Given the description of an element on the screen output the (x, y) to click on. 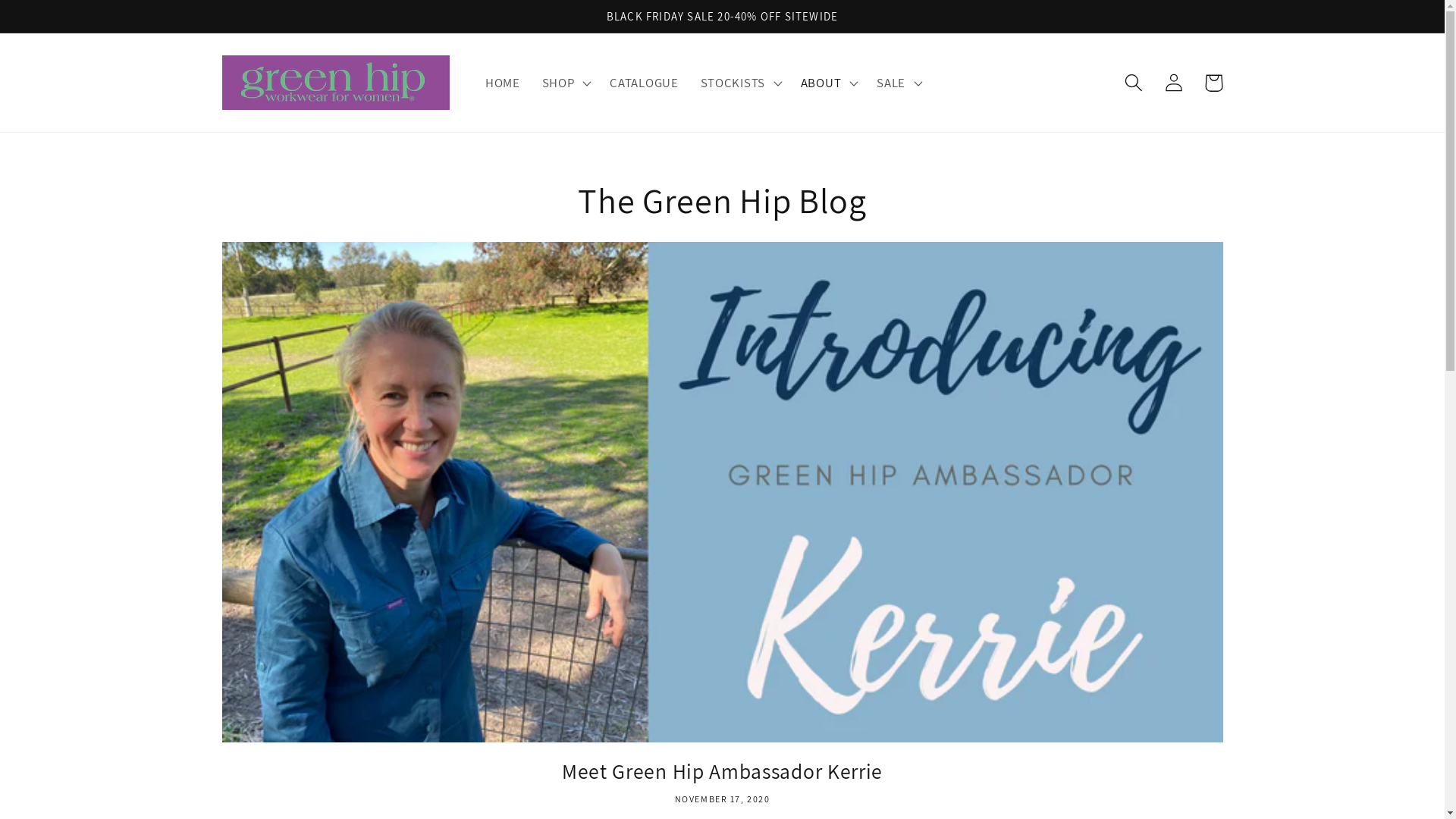
Log in Element type: text (1173, 82)
HOME Element type: text (502, 83)
Cart Element type: text (1213, 82)
CATALOGUE Element type: text (644, 83)
Meet Green Hip Ambassador Kerrie Element type: text (721, 771)
